Given the description of an element on the screen output the (x, y) to click on. 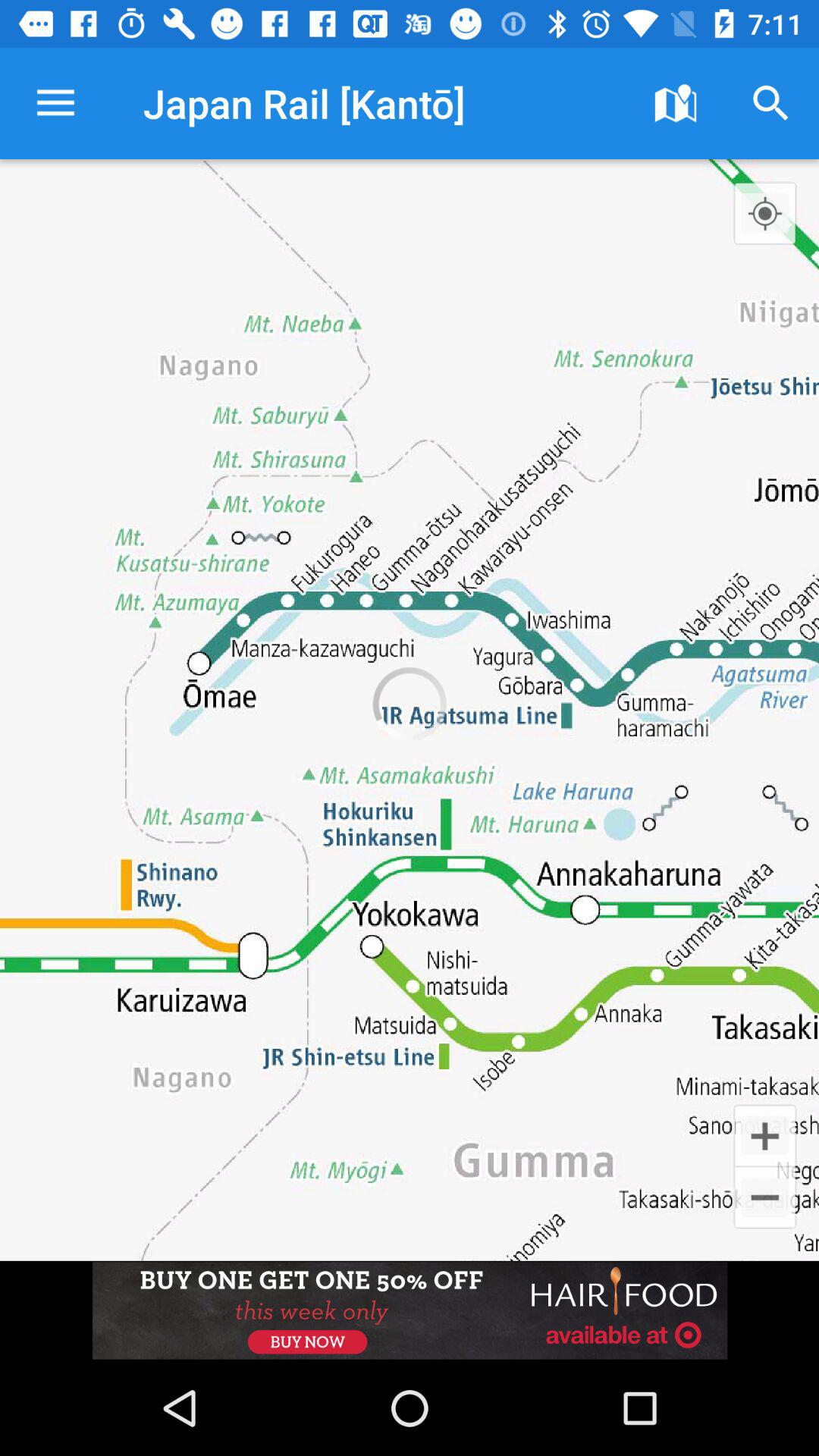
locate me (764, 213)
